Given the description of an element on the screen output the (x, y) to click on. 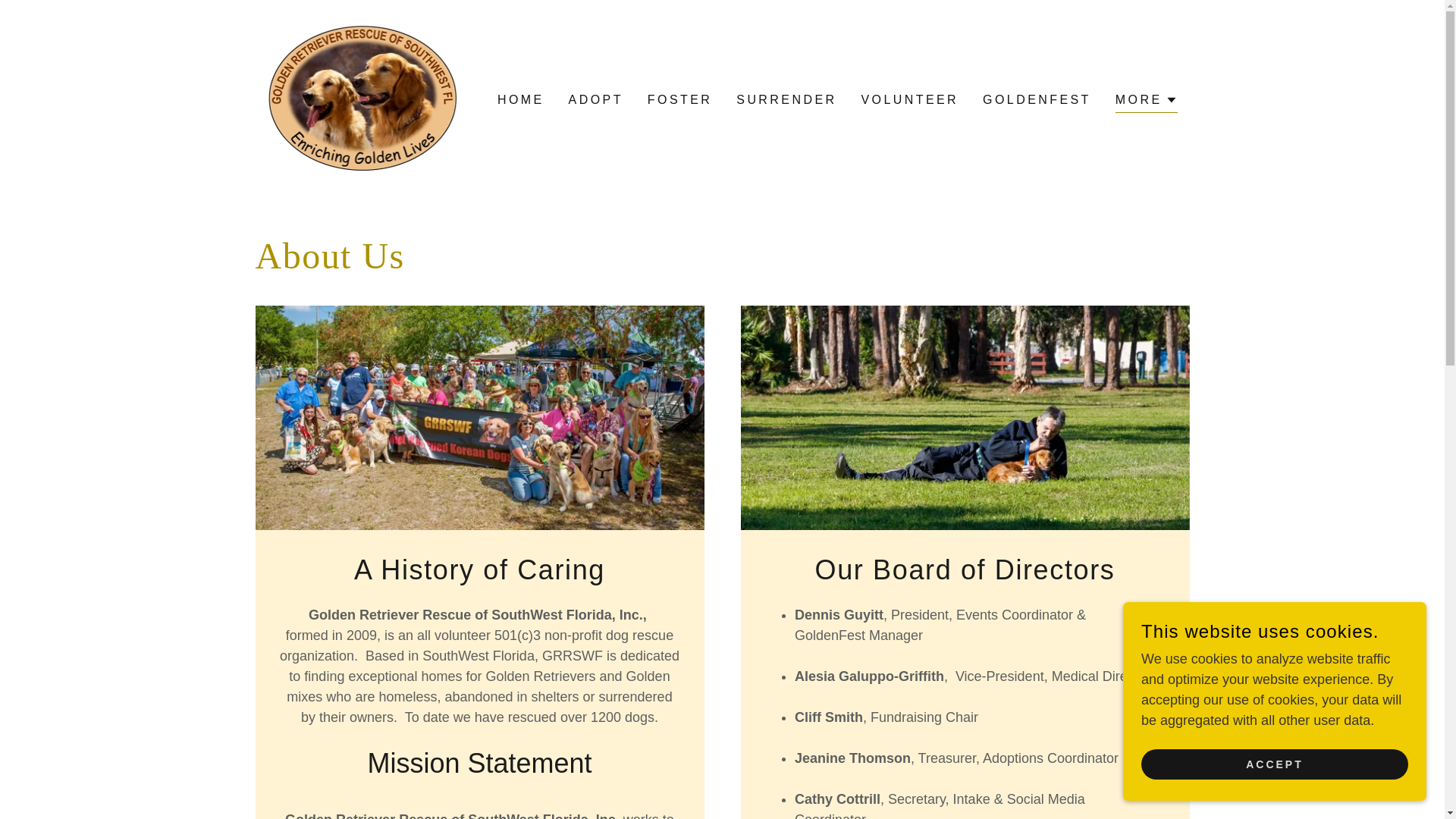
SURRENDER (786, 99)
VOLUNTEER (909, 99)
FOSTER (679, 99)
Golden Retriever Rescue of Southwest Florida (361, 99)
ADOPT (595, 99)
GOLDENFEST (1037, 99)
HOME (520, 99)
MORE (1146, 101)
